Given the description of an element on the screen output the (x, y) to click on. 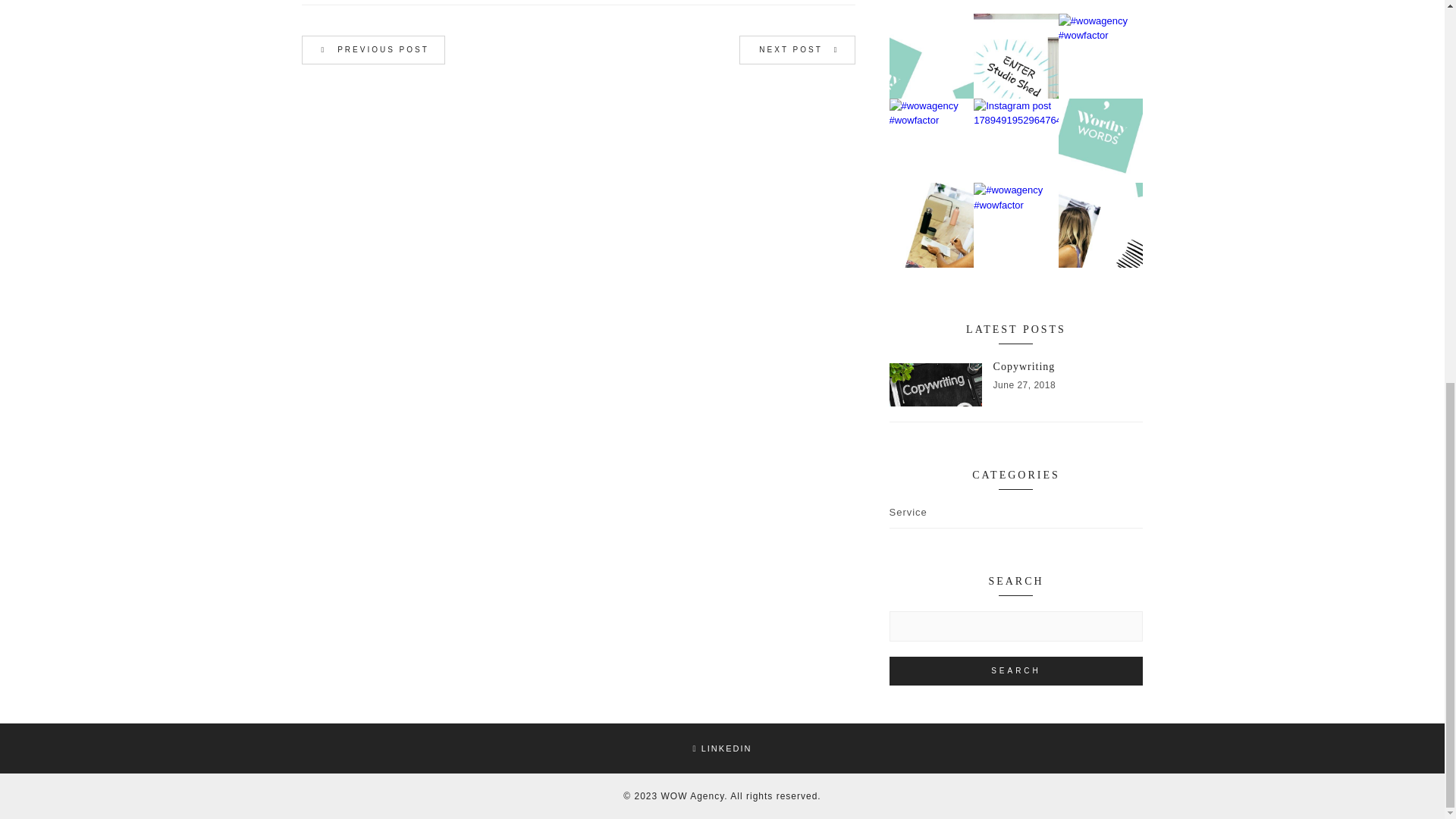
Search (1015, 670)
Service (1015, 390)
PREVIOUS POST (907, 516)
LINKEDIN (373, 50)
Search (722, 748)
NEXT POST (1015, 670)
